Given the description of an element on the screen output the (x, y) to click on. 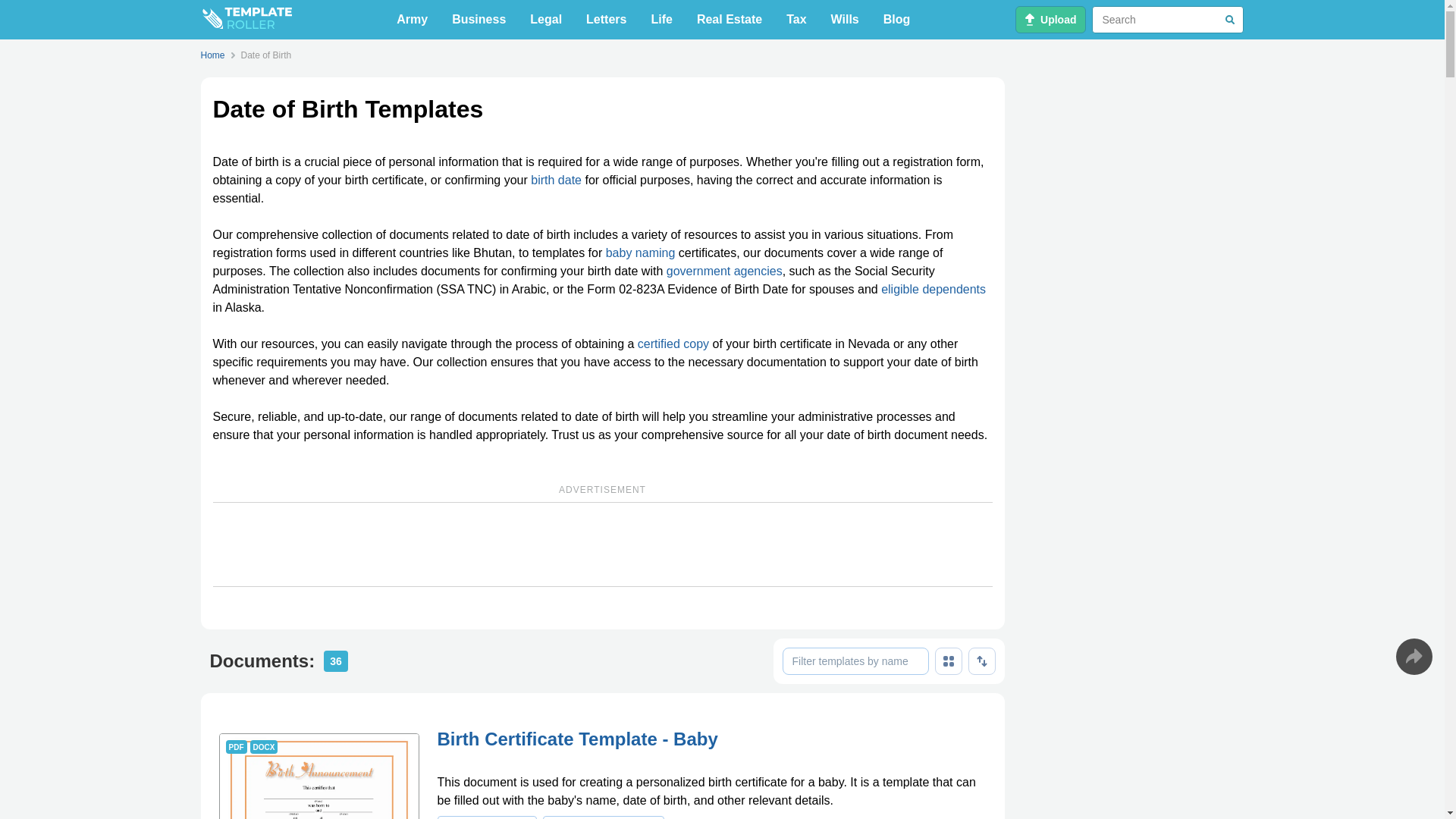
Real Estate (729, 19)
eligible dependents (932, 288)
Letters (605, 19)
certified copy (673, 343)
Army (411, 19)
Legal (545, 19)
Upload and edit your pdf online (1050, 19)
Legal (545, 19)
government agencies (724, 270)
Home (215, 55)
Wills (844, 19)
TemplateRoller (245, 19)
Real Estate (729, 19)
Business (478, 19)
